Given the description of an element on the screen output the (x, y) to click on. 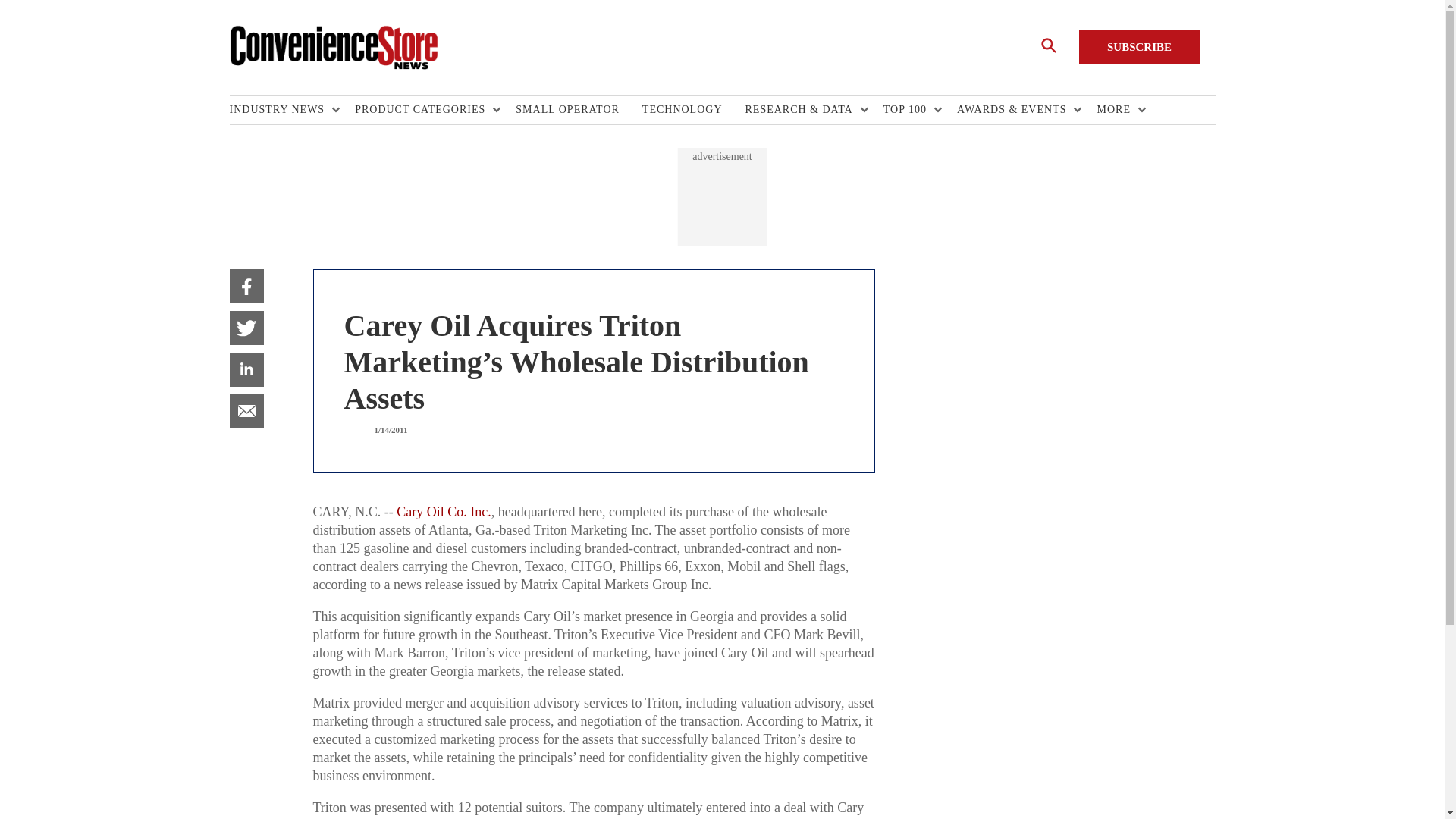
TOP 100 (908, 109)
SMALL OPERATOR (578, 109)
email (245, 410)
INDUSTRY NEWS (279, 109)
twitter (245, 327)
facebook (245, 286)
linkedIn (245, 369)
SUBSCRIBE (1138, 47)
TECHNOLOGY (693, 109)
PRODUCT CATEGORIES (424, 109)
